Given the description of an element on the screen output the (x, y) to click on. 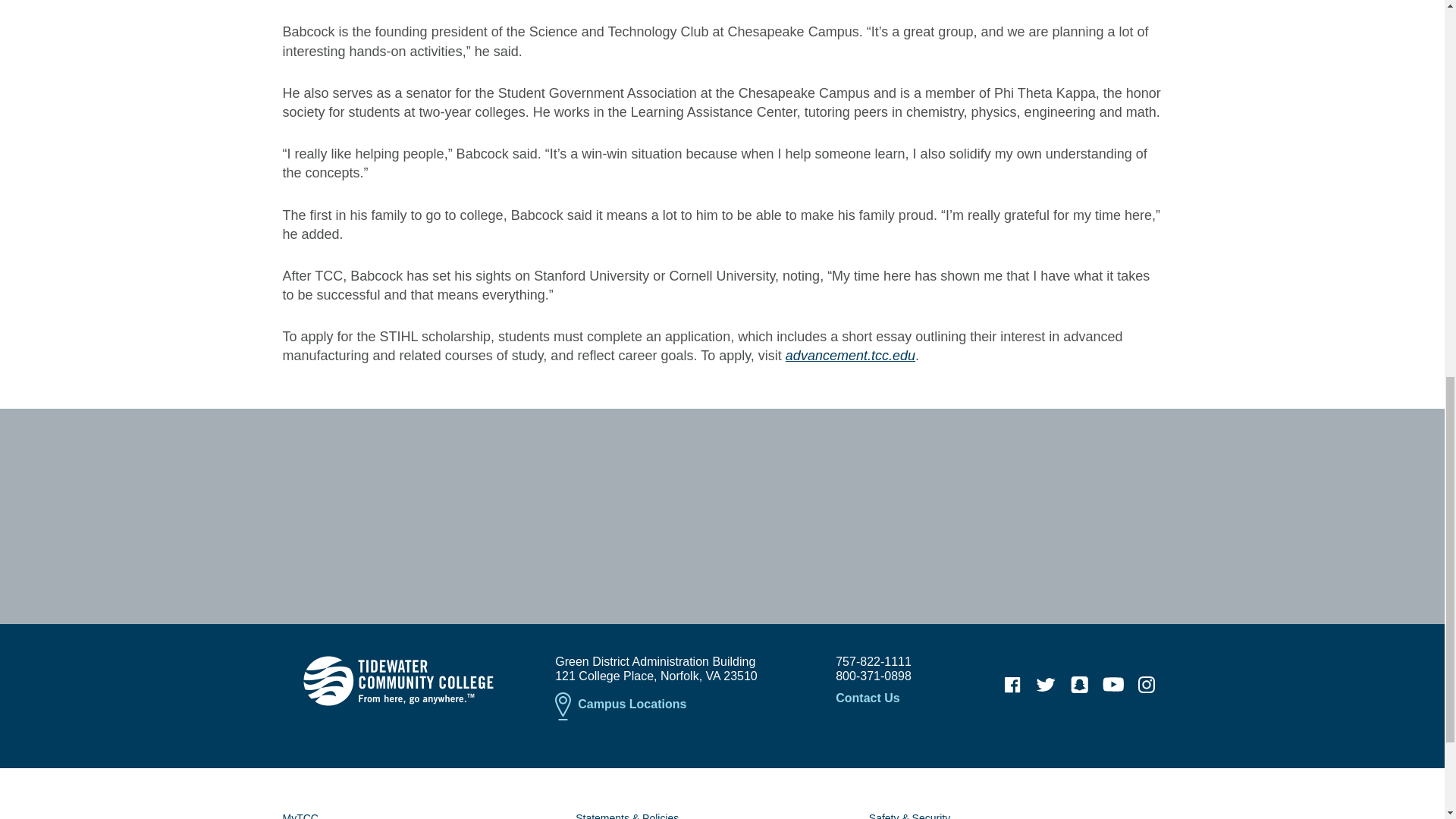
TCC on Twitter (1045, 684)
Tidewater Community College (398, 680)
TCC on Snapchat (1079, 684)
TCC on Instagram (1146, 684)
TCC on Facebook (1012, 684)
TCC on YouTube (1112, 684)
